Given the description of an element on the screen output the (x, y) to click on. 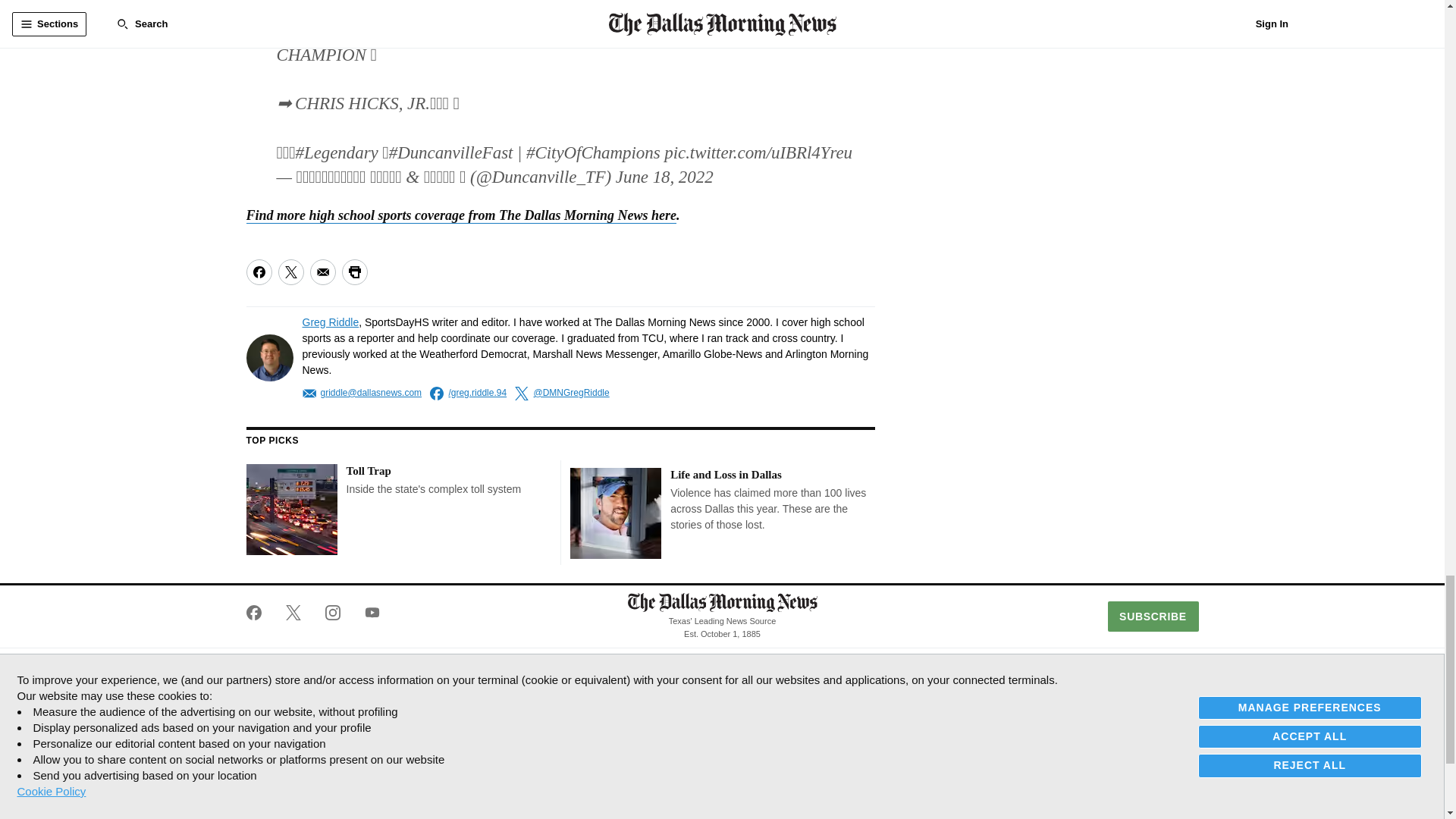
Share on Facebook (258, 272)
The Dallas Morning News on Instagram (332, 612)
The Dallas Morning News on Twitter (293, 612)
The Dallas Morning News on YouTube (365, 612)
The Dallas Morning News on Facebook (259, 612)
Share via Email (321, 272)
Share on Twitter (290, 272)
Print (353, 272)
